Given the description of an element on the screen output the (x, y) to click on. 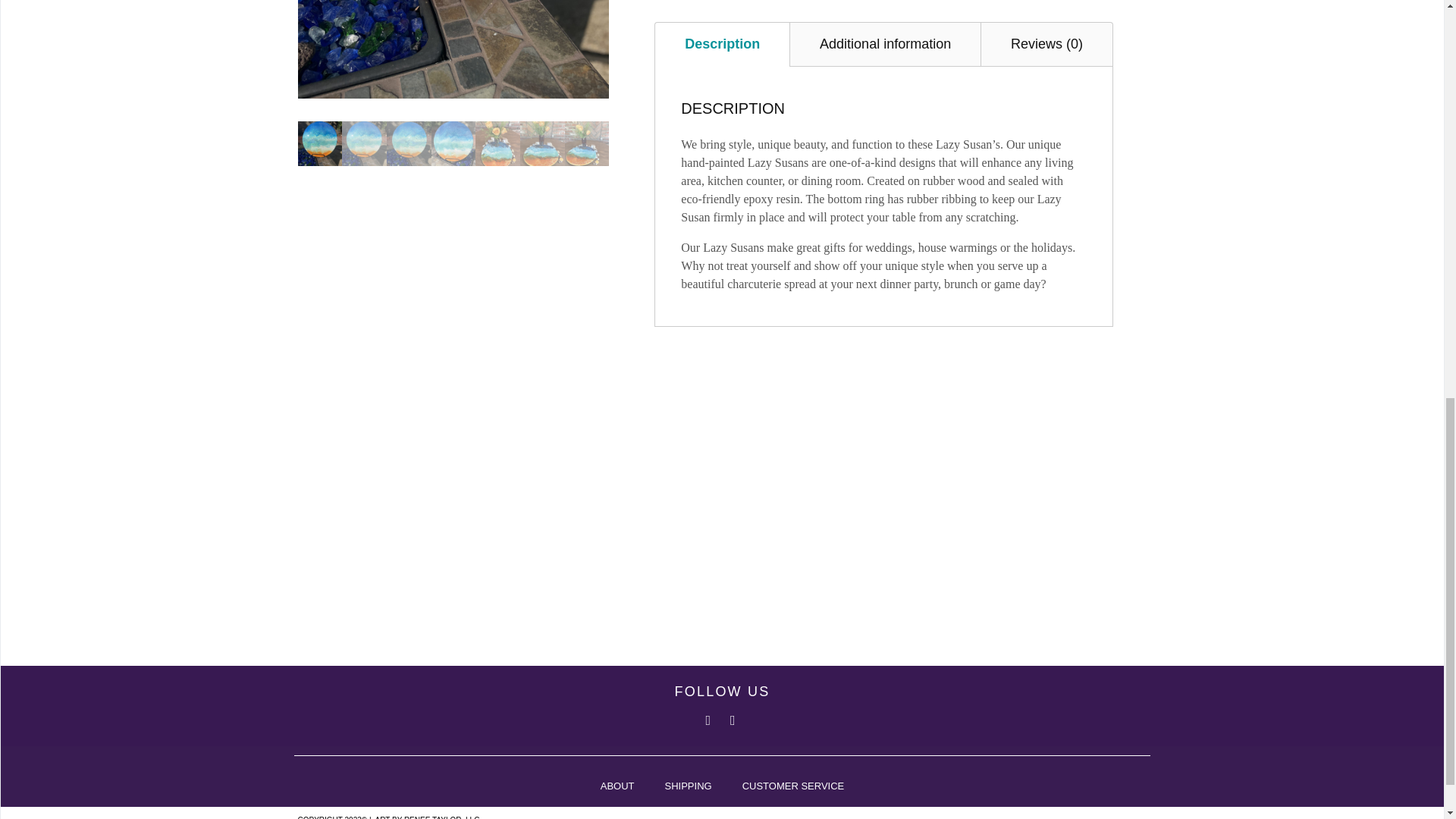
Kokomo revised (452, 49)
Kokomo revised (764, 49)
